Given the description of an element on the screen output the (x, y) to click on. 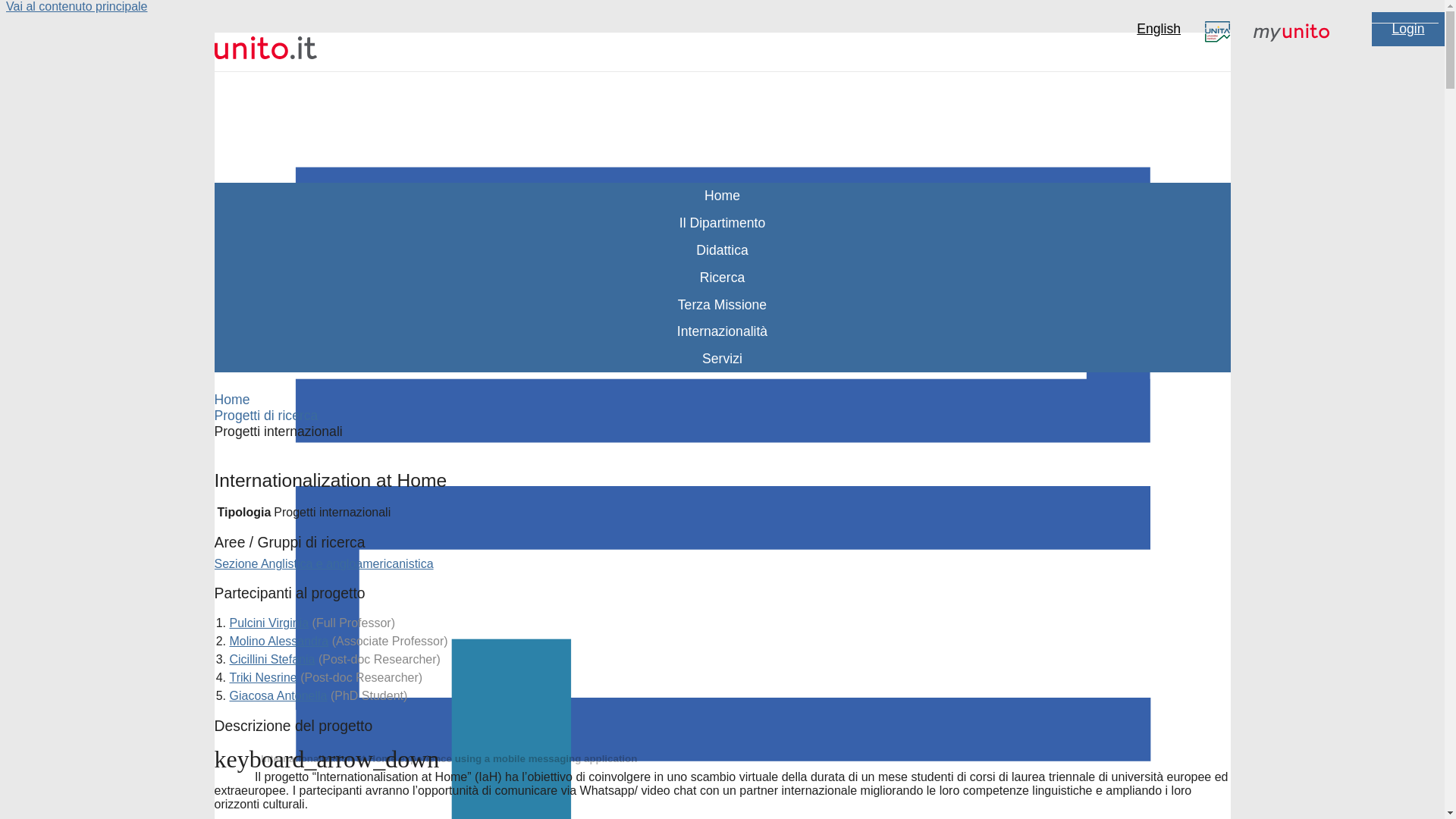
English (1158, 28)
Home page (722, 195)
Vai al contenuto principale (76, 6)
Passa alla Versione in inglese (1158, 28)
